Given the description of an element on the screen output the (x, y) to click on. 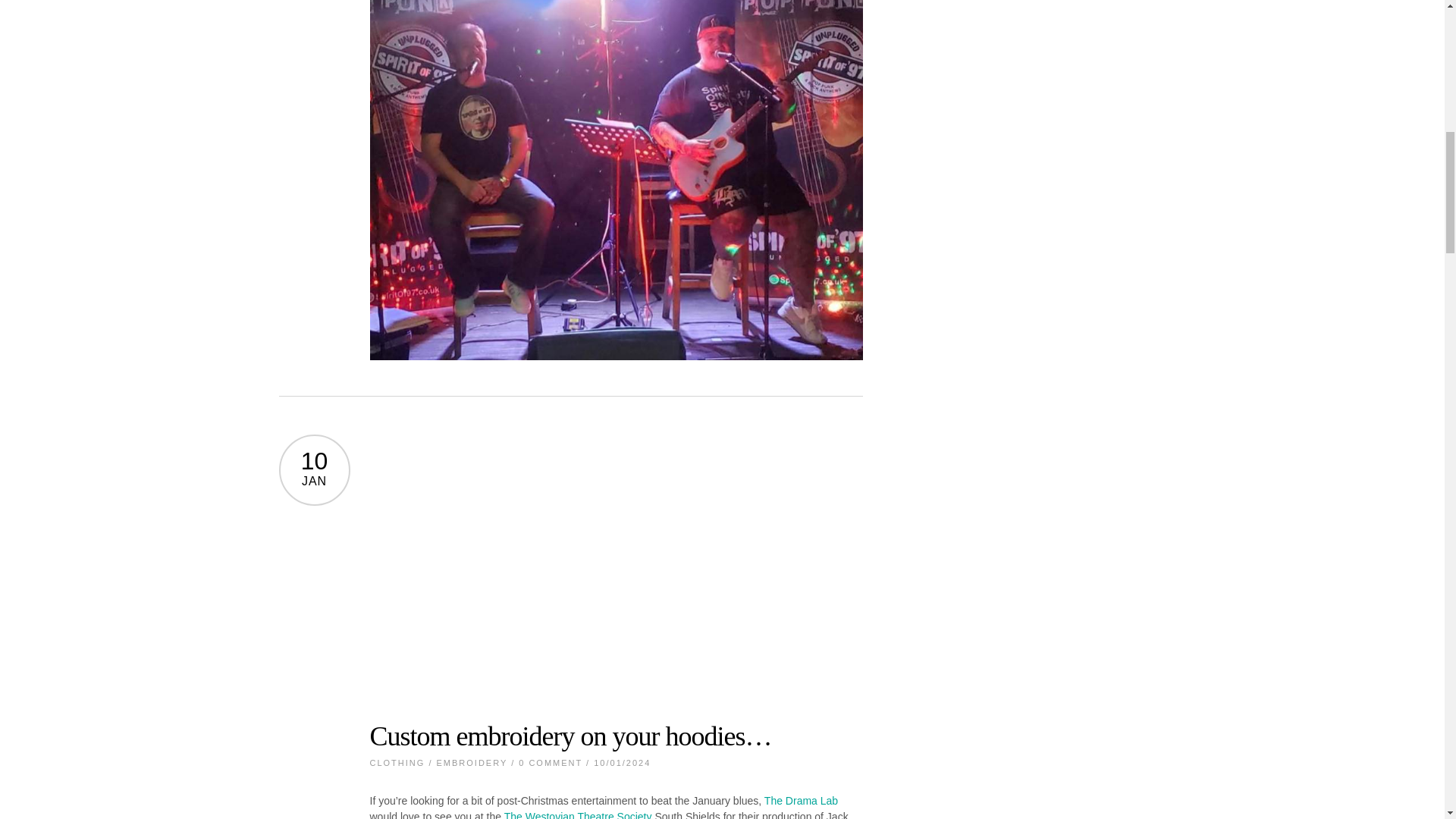
The Westovian Theatre Society (577, 814)
EMBROIDERY (472, 762)
The Drama Lab (801, 800)
0 COMMENT (550, 762)
CLOTHING (397, 762)
